Given the description of an element on the screen output the (x, y) to click on. 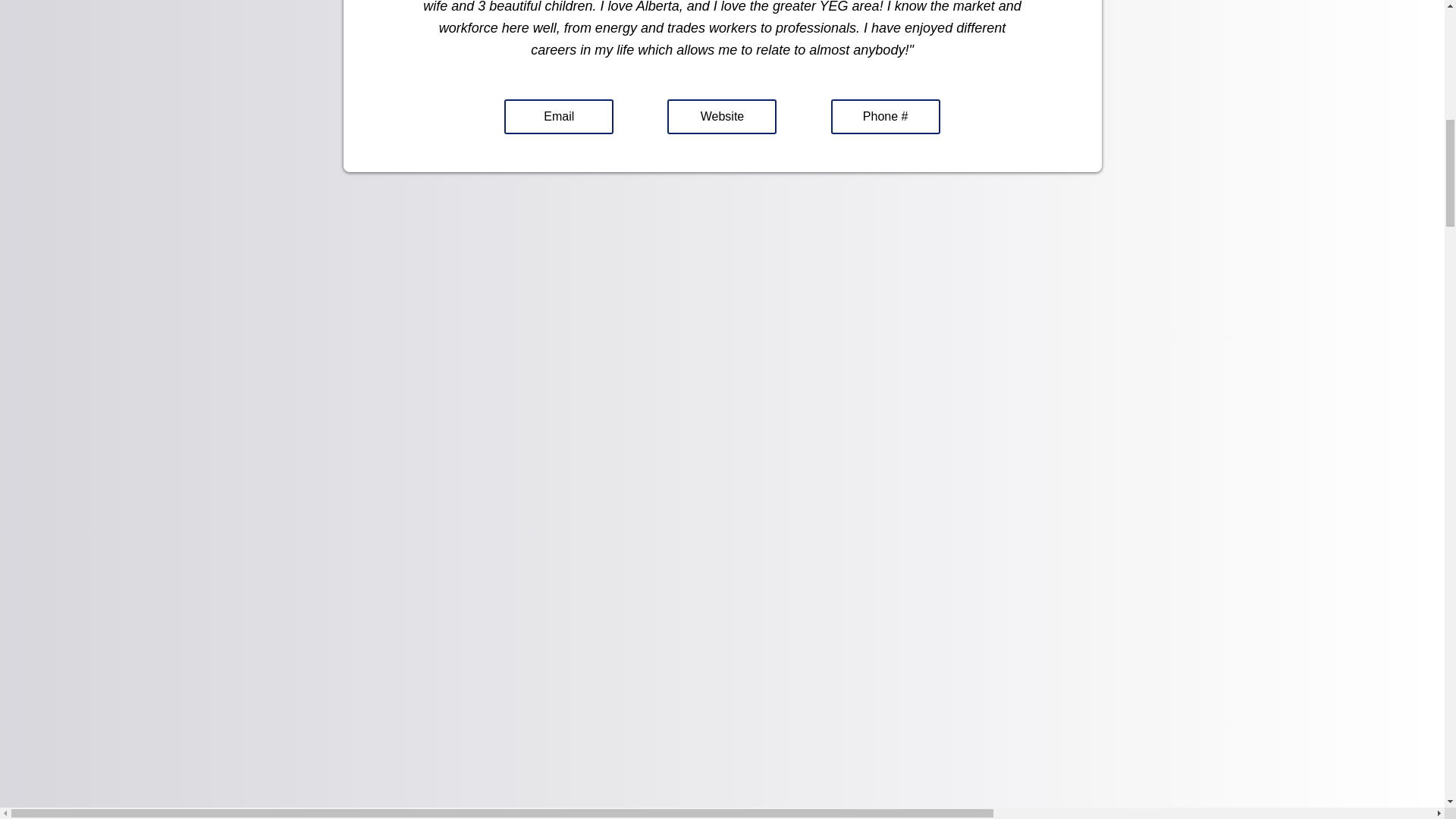
Website (721, 116)
Email (557, 116)
